Given the description of an element on the screen output the (x, y) to click on. 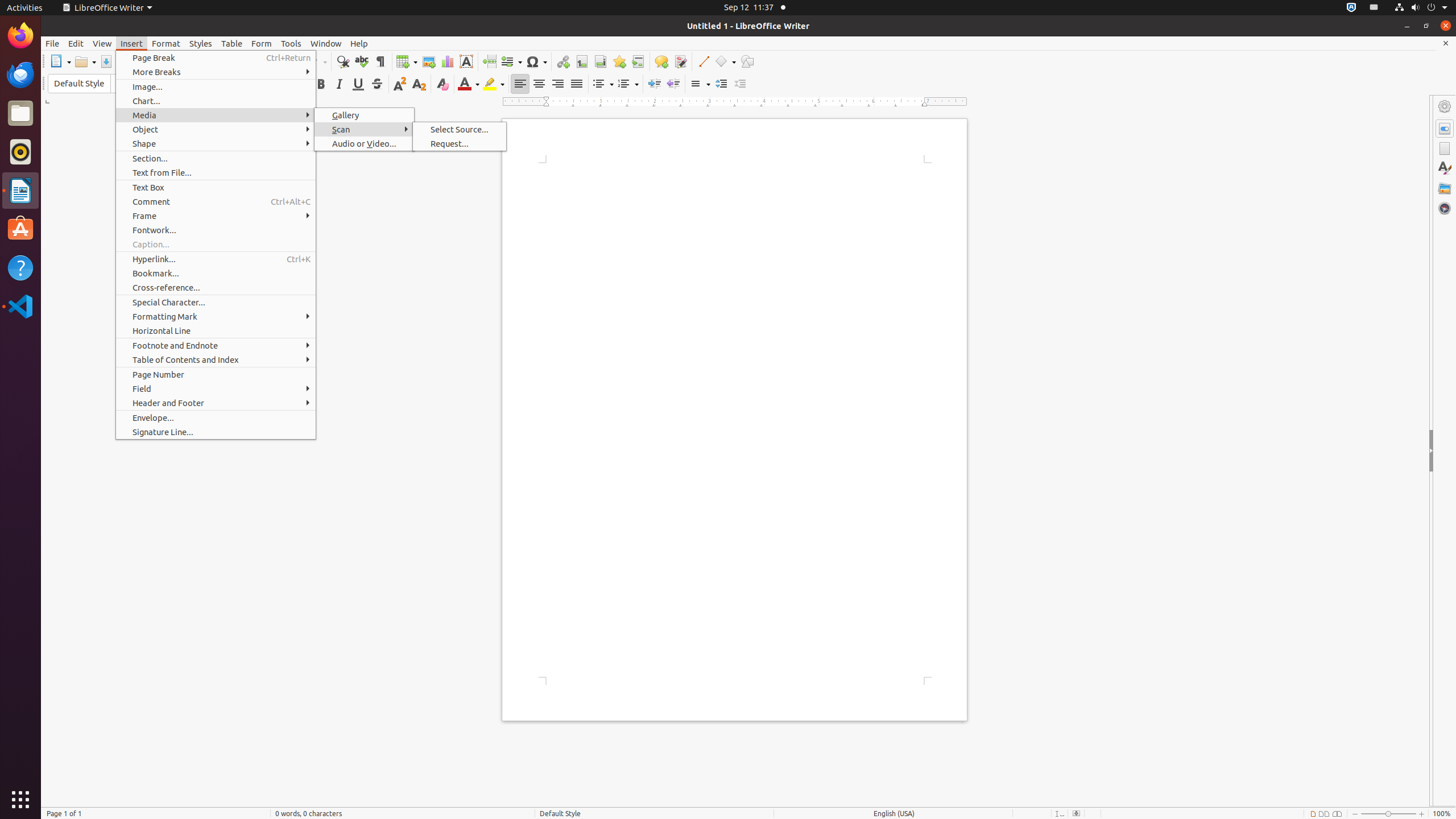
Font Color Element type: push-button (468, 83)
Gallery Element type: menu-item (364, 115)
LibreOffice Writer Element type: push-button (20, 190)
Formatting Mark Element type: menu (215, 316)
Visual Studio Code Element type: push-button (20, 306)
